Given the description of an element on the screen output the (x, y) to click on. 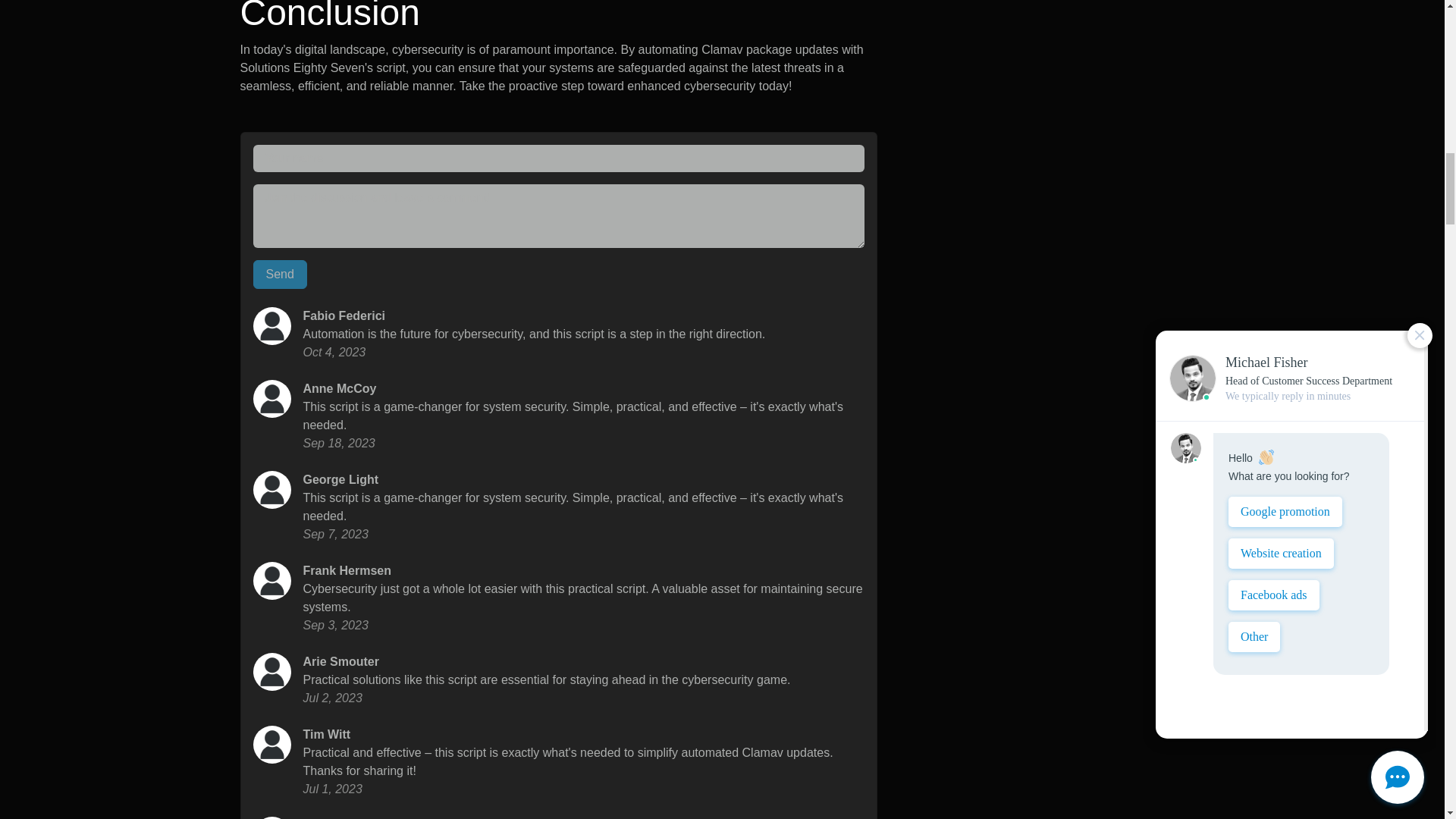
Send (280, 274)
Send (280, 274)
